Given the description of an element on the screen output the (x, y) to click on. 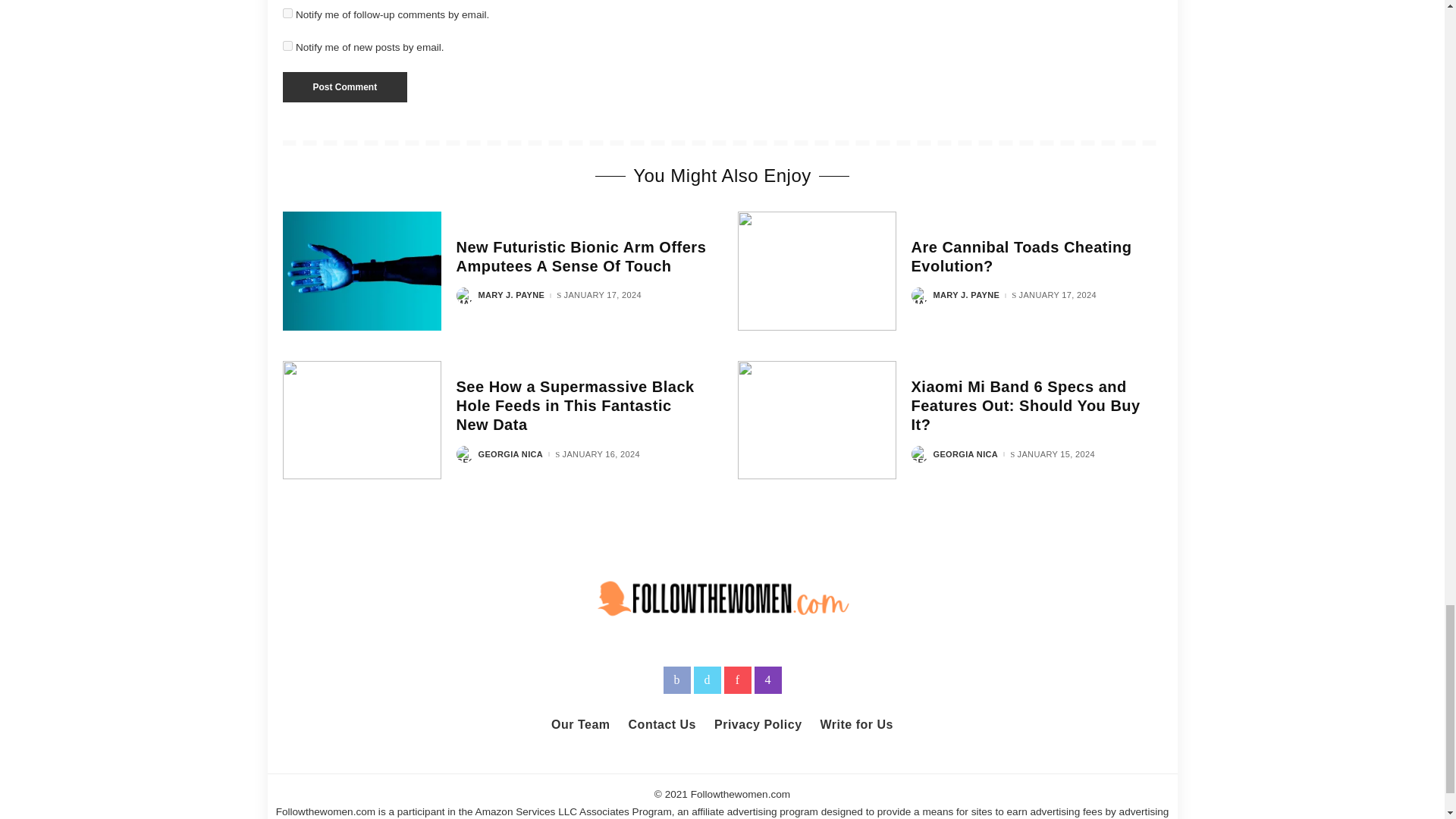
subscribe (287, 13)
Post Comment (344, 87)
subscribe (287, 45)
